Given the description of an element on the screen output the (x, y) to click on. 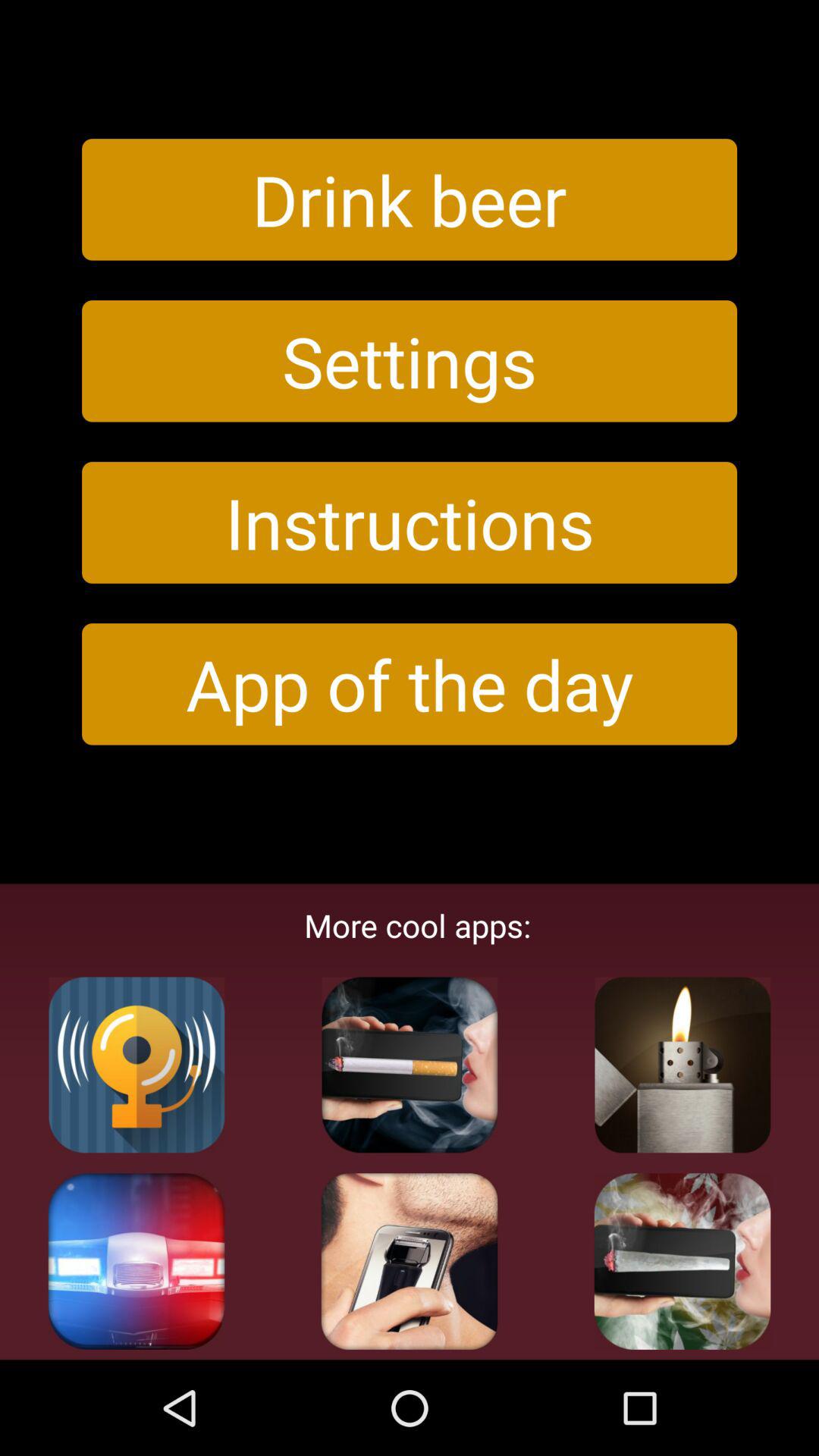
open button below settings button (409, 522)
